Given the description of an element on the screen output the (x, y) to click on. 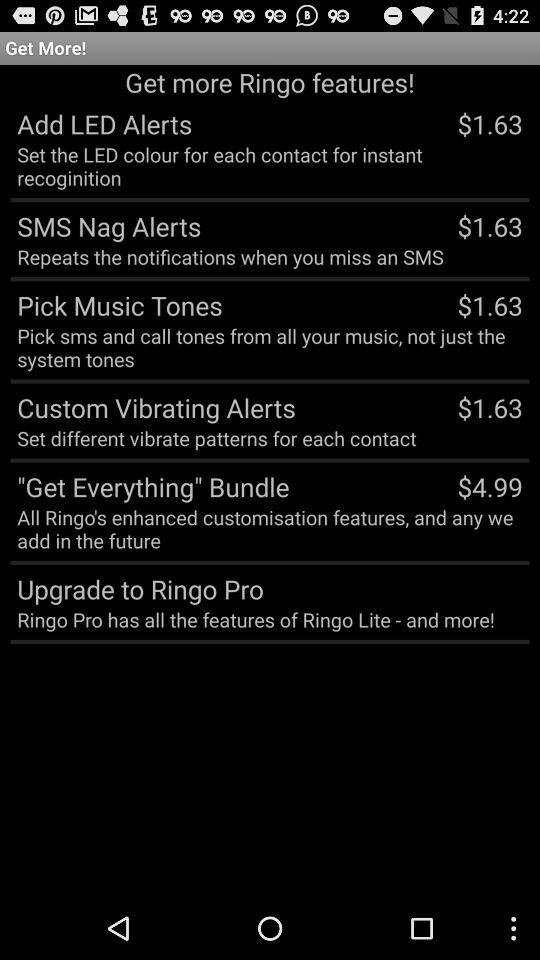
open the item next to the "get everything" bundle app (489, 486)
